Given the description of an element on the screen output the (x, y) to click on. 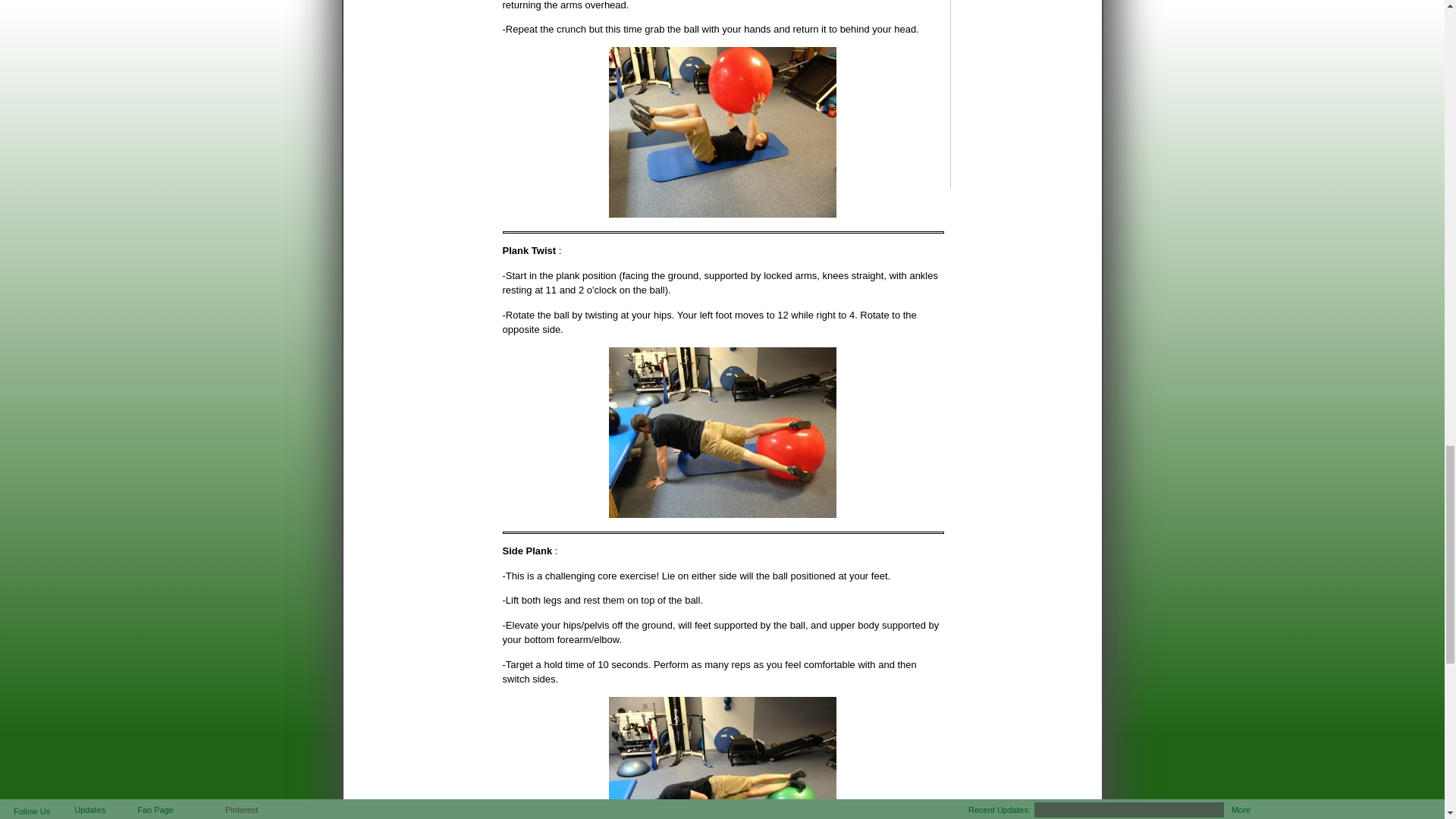
Exercise ball plank twist (721, 432)
Side planks with exercise ball (721, 757)
Exercise ball crunch pass (721, 131)
